Given the description of an element on the screen output the (x, y) to click on. 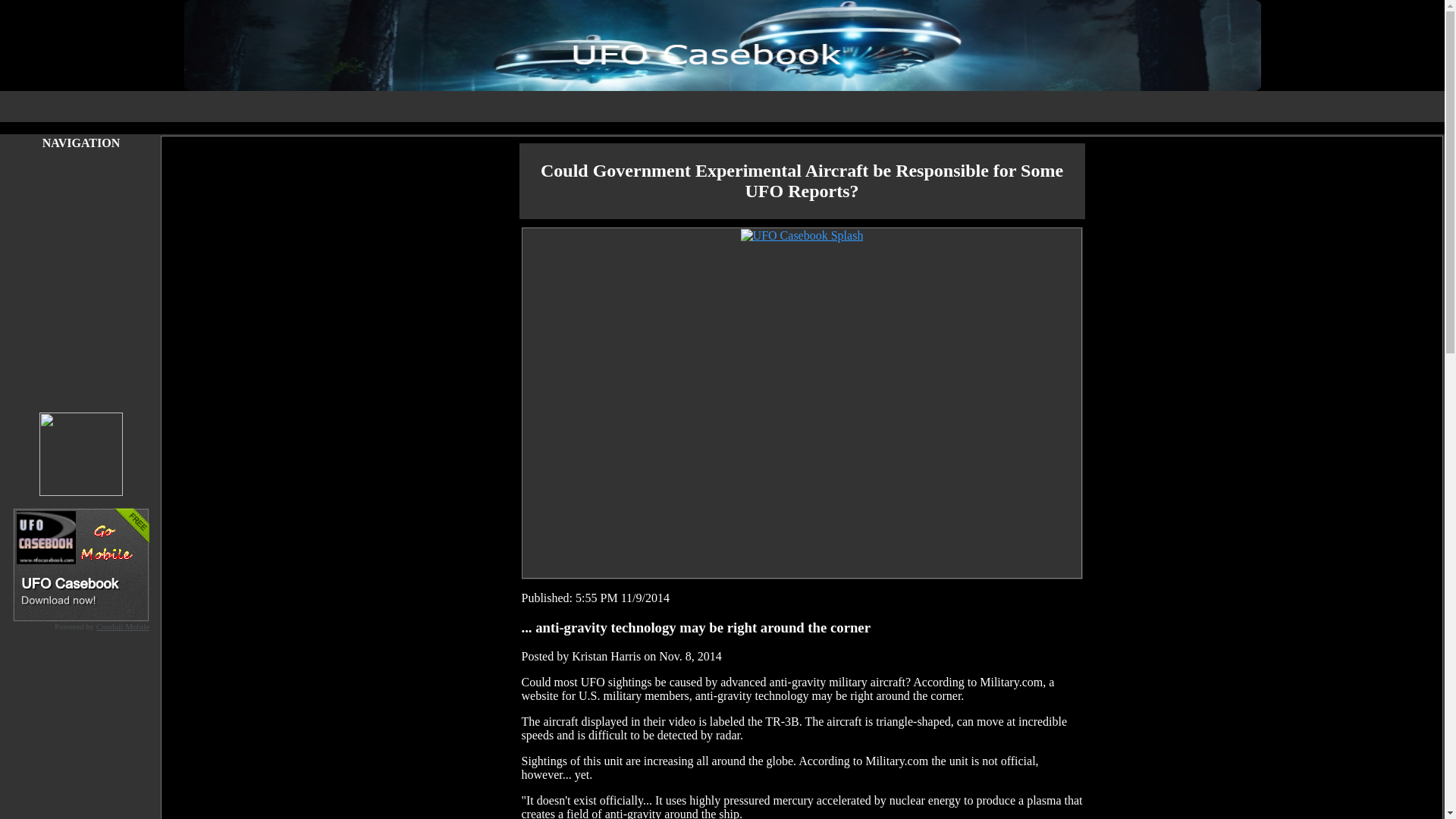
Conduit Mobile (122, 625)
